Given the description of an element on the screen output the (x, y) to click on. 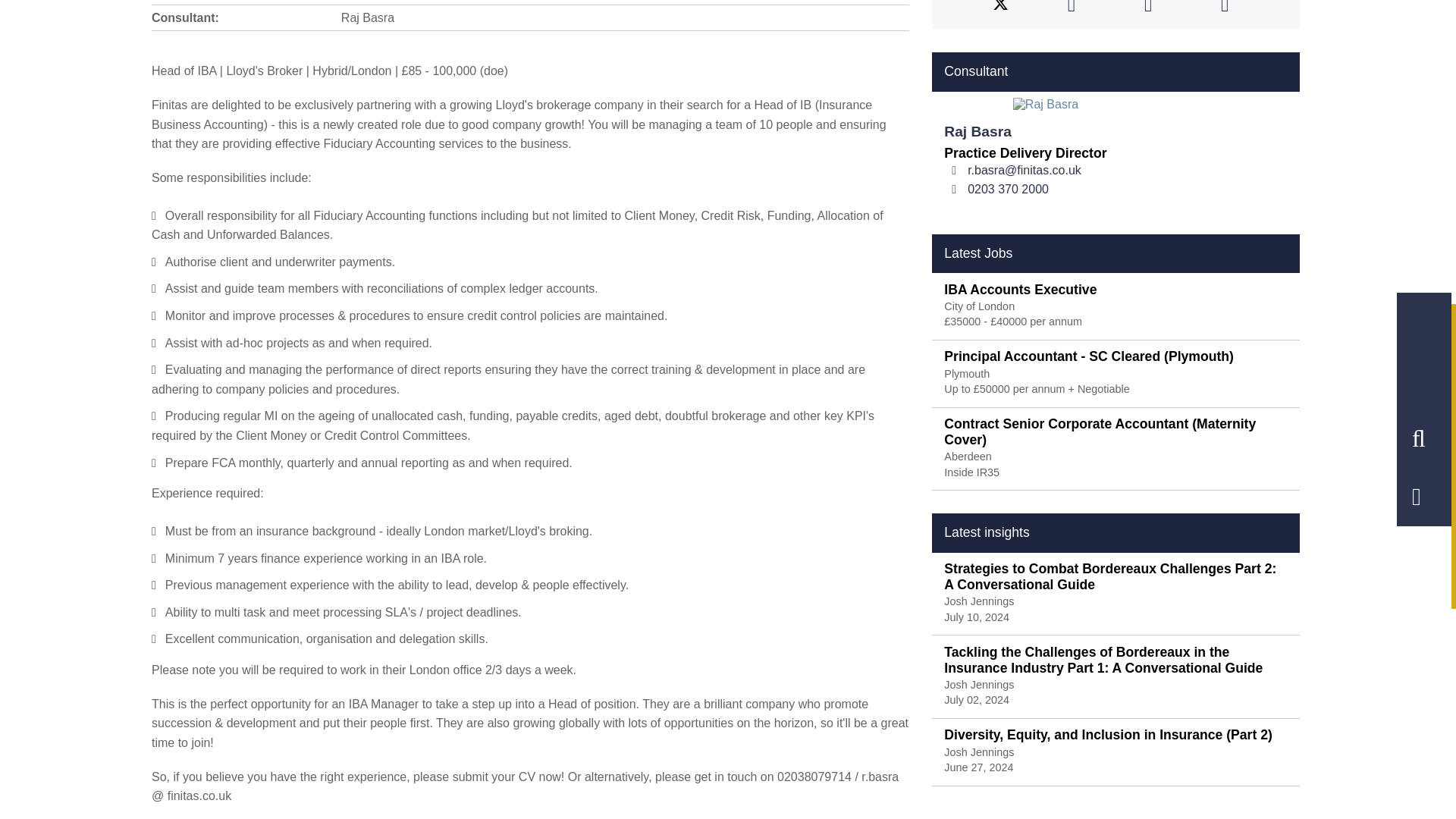
LinkedIn (1147, 8)
Facebook (1072, 8)
Twitter (1000, 8)
Email (1225, 8)
